Given the description of an element on the screen output the (x, y) to click on. 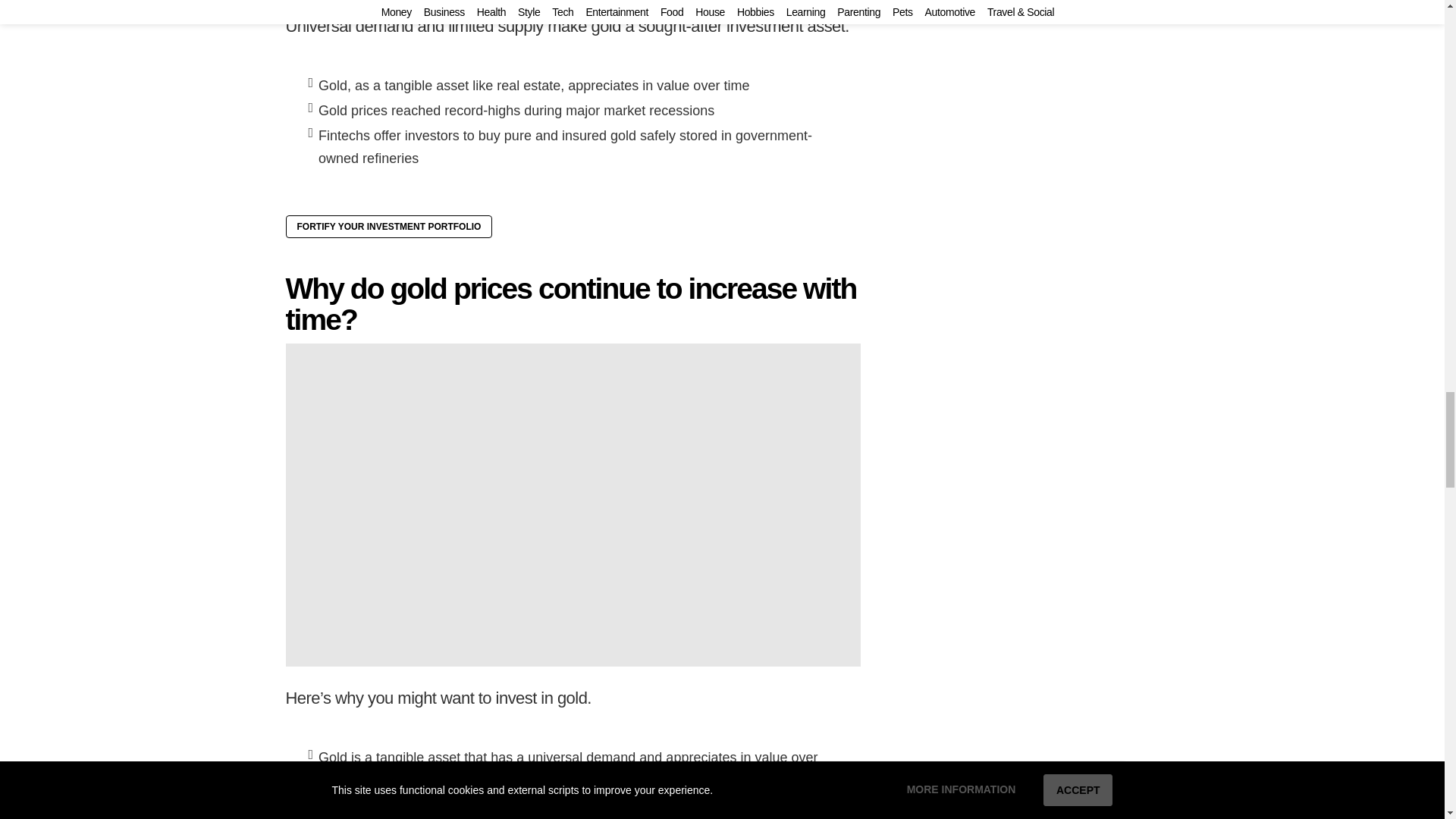
FORTIFY YOUR INVESTMENT PORTFOLIO (388, 226)
